Given the description of an element on the screen output the (x, y) to click on. 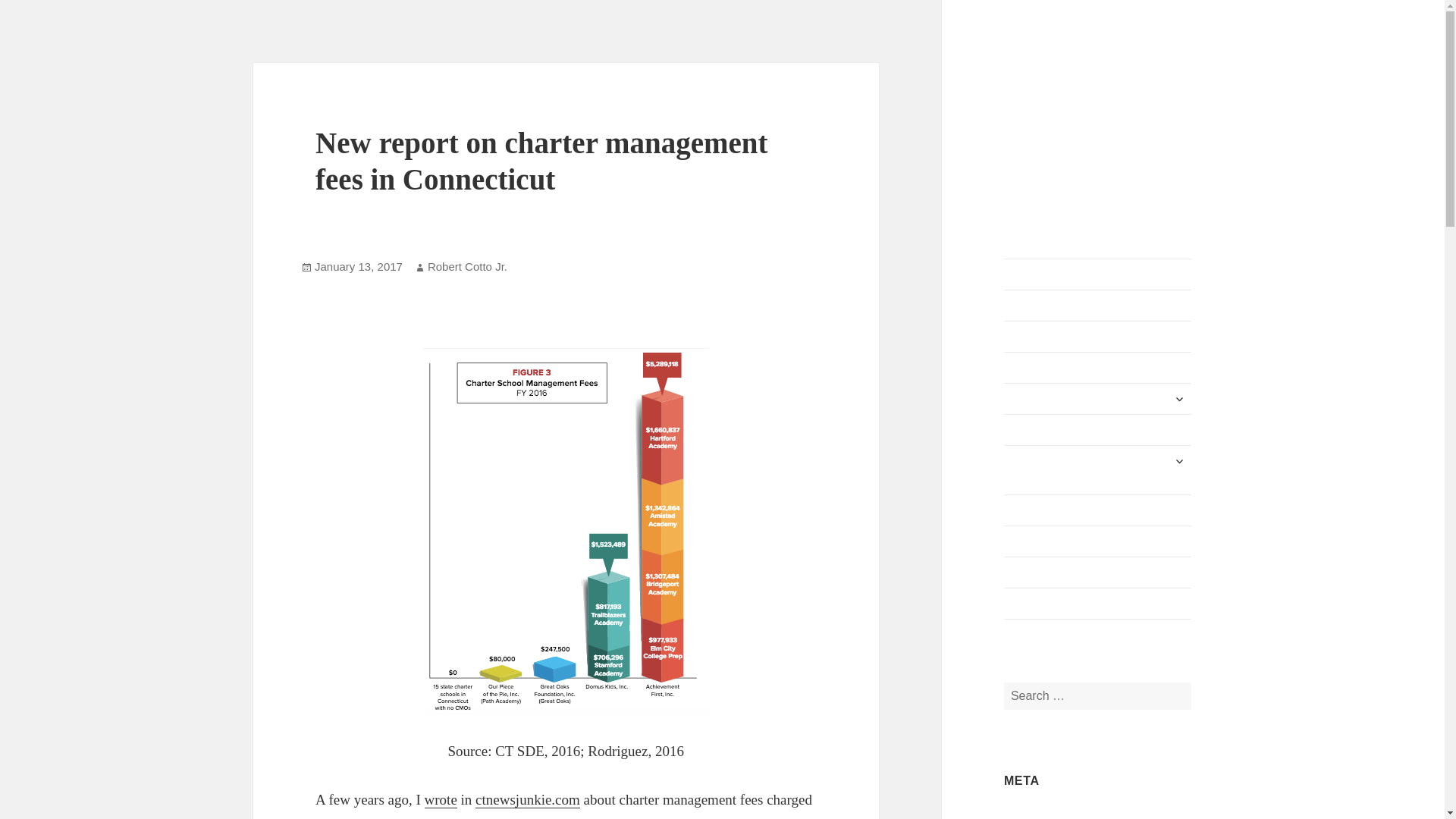
expand child menu (1179, 460)
January 13, 2017 (358, 266)
Student web essays (1098, 429)
Research (1098, 367)
School Search Tools (1098, 510)
wrote (441, 799)
On The Line public history (1098, 541)
Log in (1019, 814)
CT Educational Redlining (1098, 603)
ctnewsjunkie.com (527, 799)
About (1098, 274)
Robert Cotto Jr. (467, 266)
